Given the description of an element on the screen output the (x, y) to click on. 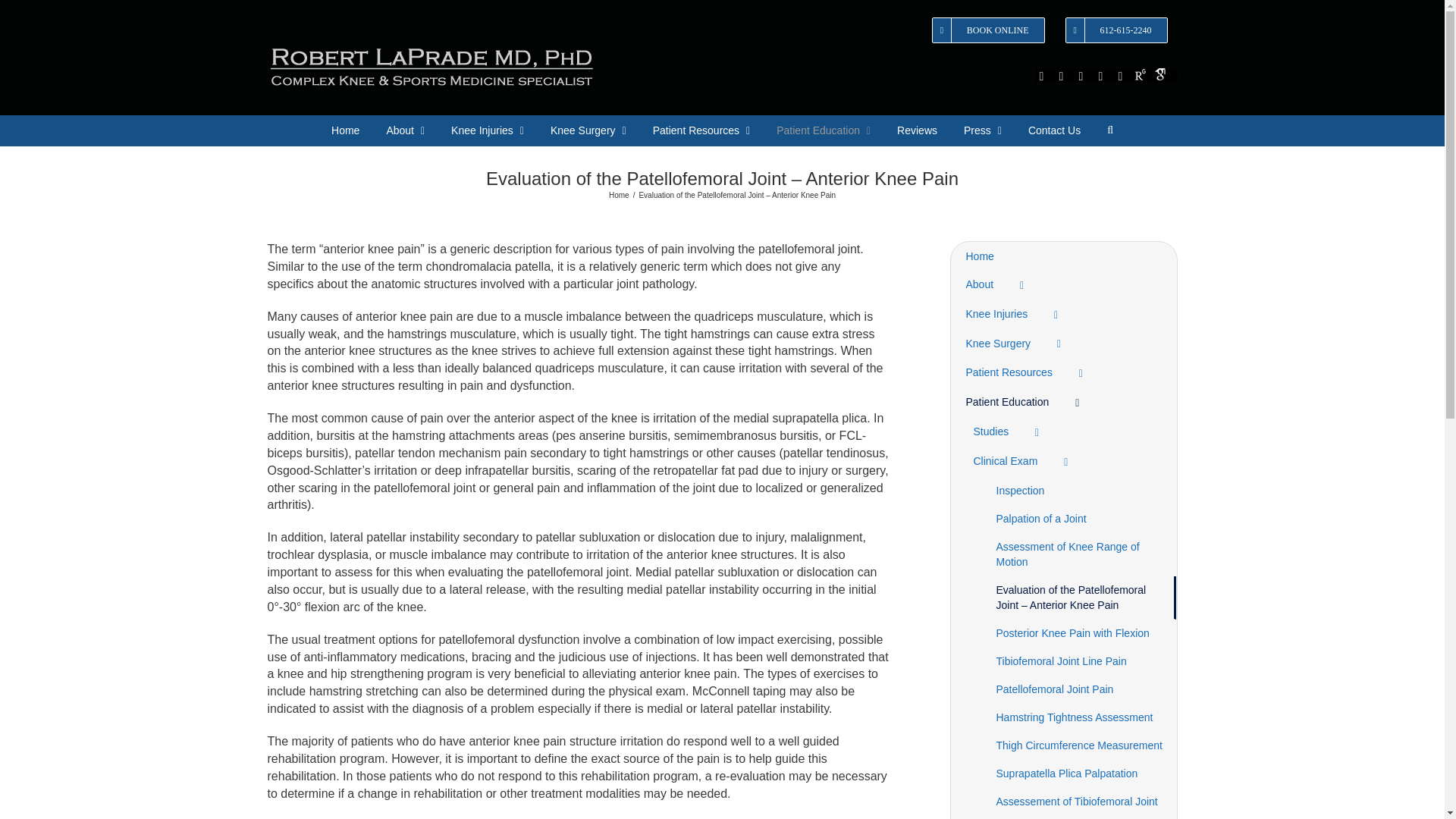
LinkedIn (1100, 76)
GoogleScholar (1160, 73)
Home (345, 130)
Instagram (1081, 76)
612-615-2240 (1116, 30)
ResearchGate (1140, 73)
YouTube (1120, 76)
BOOK ONLINE (987, 30)
Knee Injuries (487, 130)
About (405, 130)
X (1061, 76)
Facebook (1041, 76)
